Given the description of an element on the screen output the (x, y) to click on. 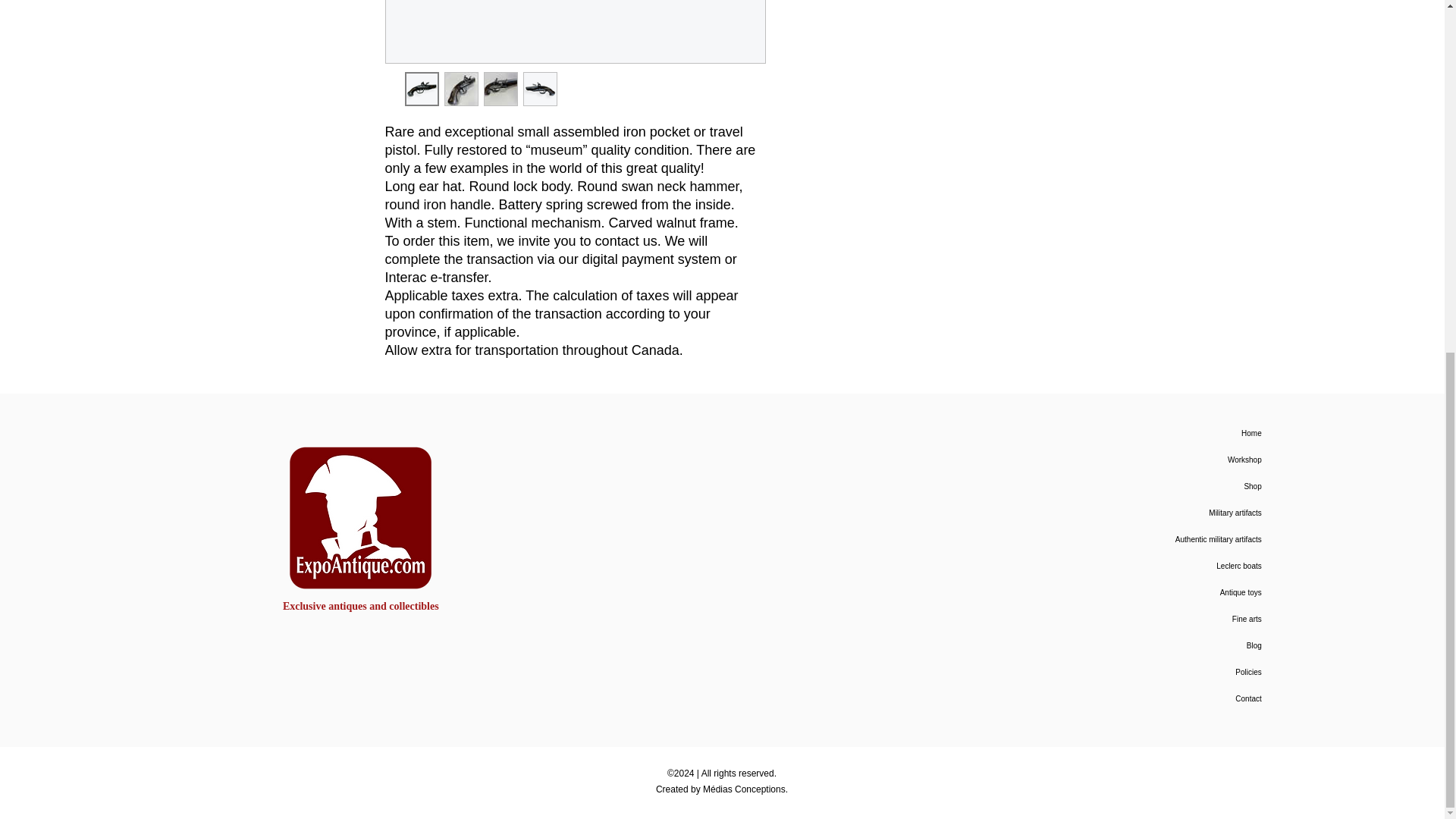
Antique toys (1145, 592)
Fine arts (1145, 619)
Workshop (1145, 459)
Blog (1145, 645)
Leclerc boats (1145, 565)
Home (1145, 433)
Authentic military artifacts (1145, 539)
Military artifacts (1145, 512)
Shop (1145, 486)
Policies (1145, 672)
Contact (1145, 698)
